Given the description of an element on the screen output the (x, y) to click on. 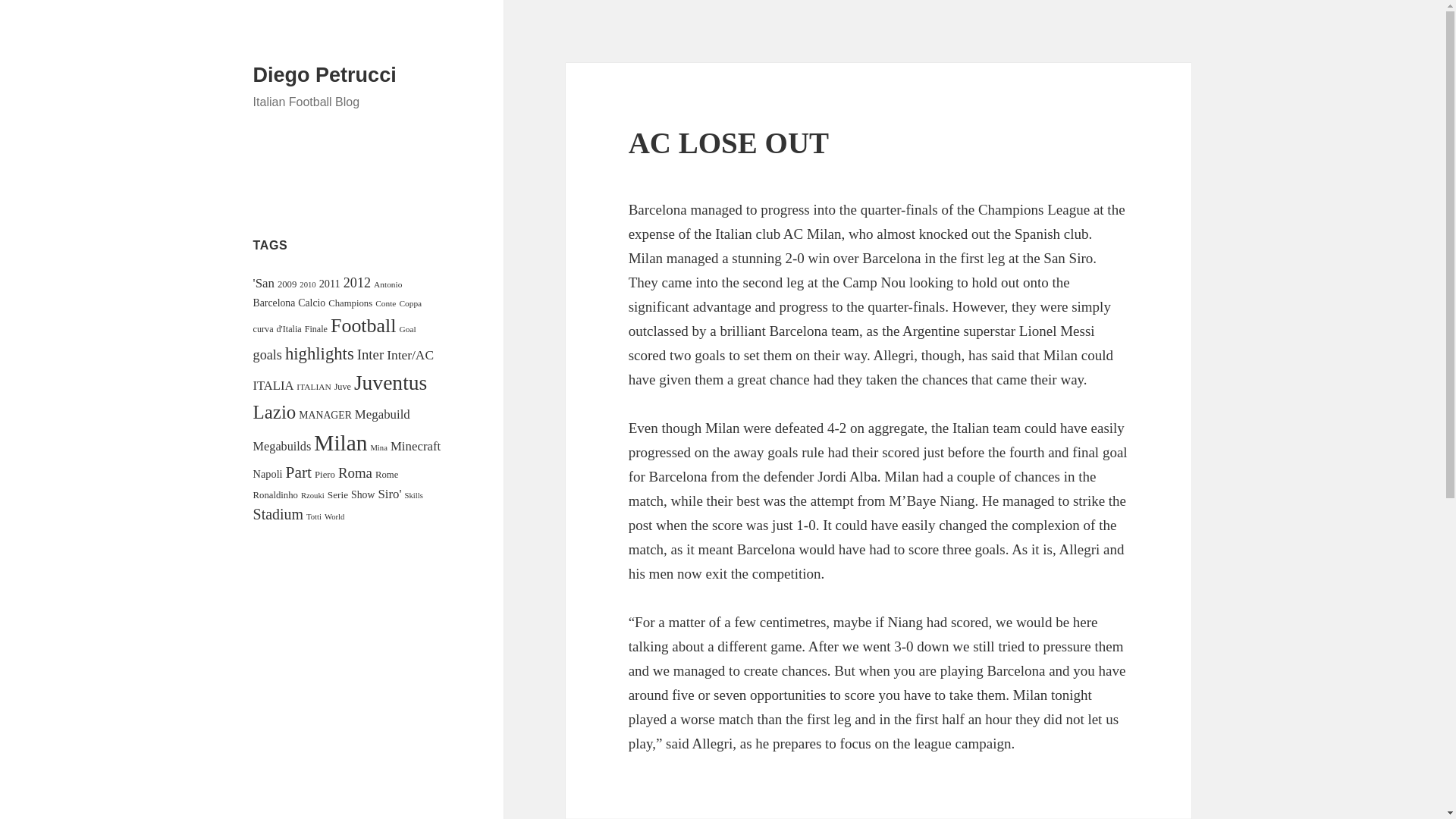
highlights (319, 353)
Calcio (311, 302)
ITALIA (273, 385)
Lazio (275, 412)
2012 (357, 282)
goals (267, 354)
Megabuilds (282, 446)
Roma (354, 472)
curva (263, 328)
Inter (370, 354)
Mina (378, 447)
Champions (350, 303)
Coppa (410, 302)
Megabuild (382, 414)
Finale (315, 328)
